Given the description of an element on the screen output the (x, y) to click on. 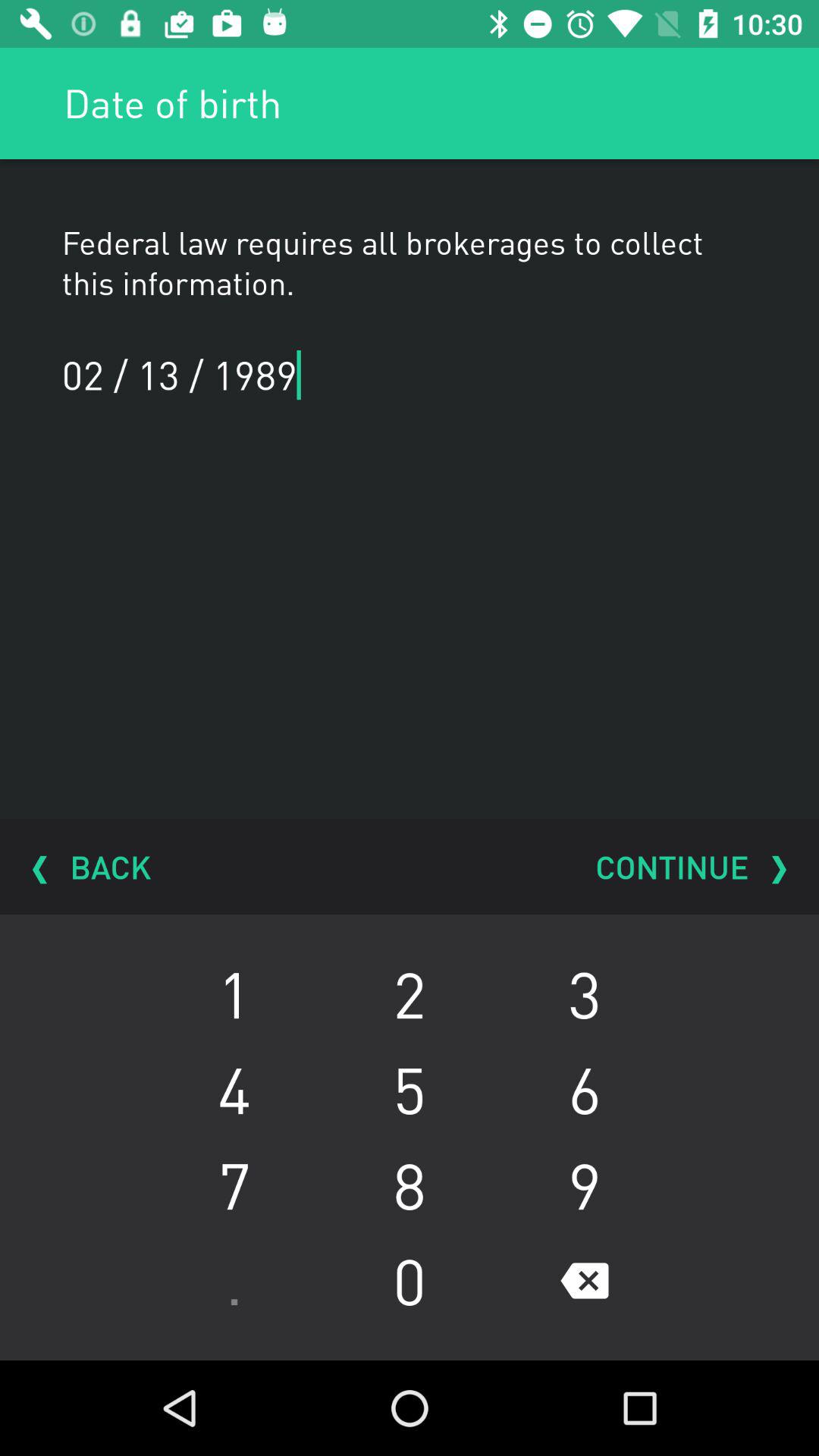
swipe until 0 icon (409, 1280)
